Given the description of an element on the screen output the (x, y) to click on. 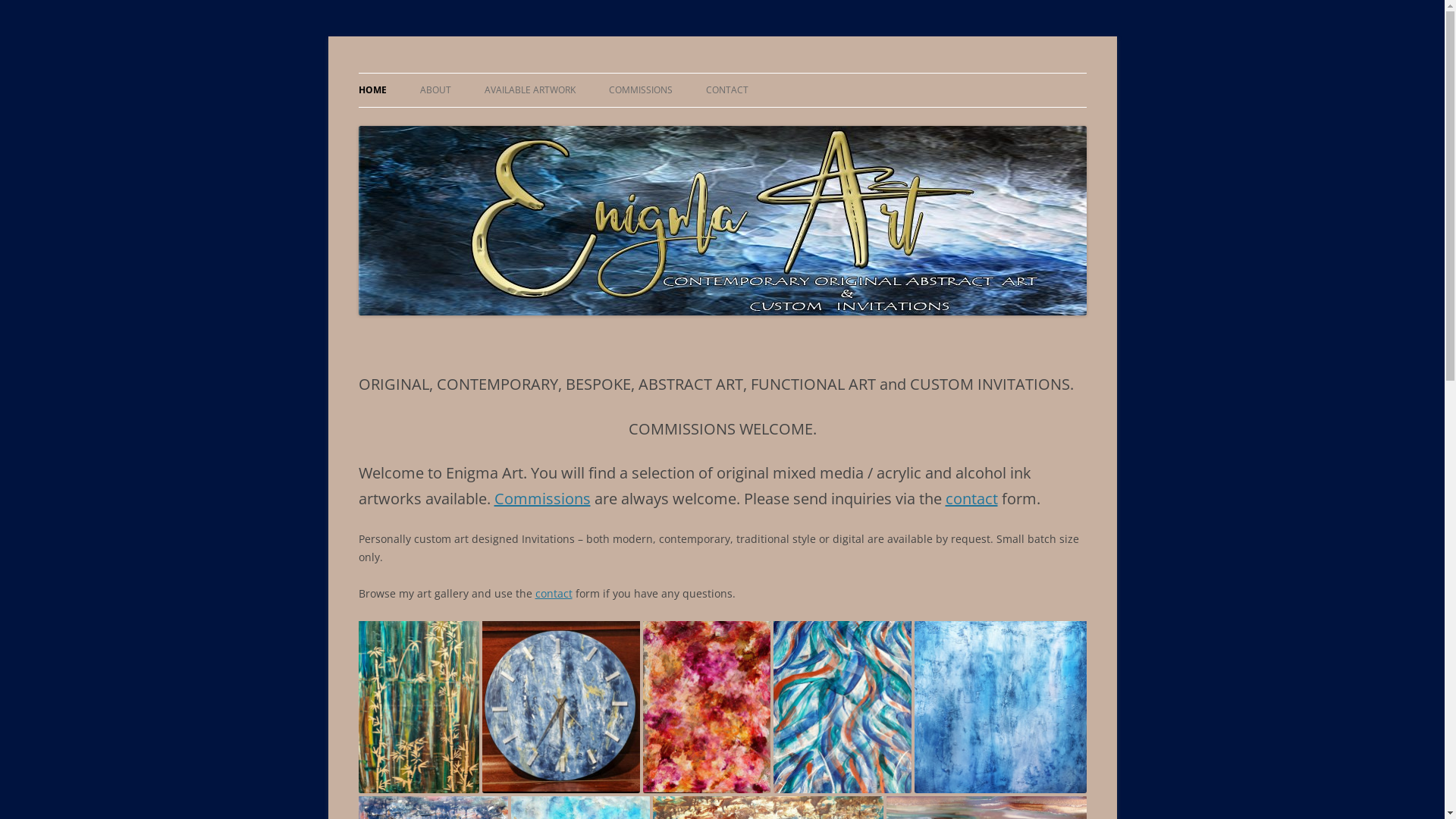
AVAILABLE ARTWORK Element type: text (528, 89)
COMMISSIONS Element type: text (639, 89)
Skip to content Element type: text (721, 72)
ALCOHOL INK ART Element type: text (559, 122)
HOME Element type: text (371, 89)
contact Element type: text (970, 498)
CONTACT Element type: text (726, 89)
EnigmaArt Element type: text (409, 72)
Commissions Element type: text (542, 498)
ABOUT Element type: text (435, 89)
contact Element type: text (553, 593)
